Given the description of an element on the screen output the (x, y) to click on. 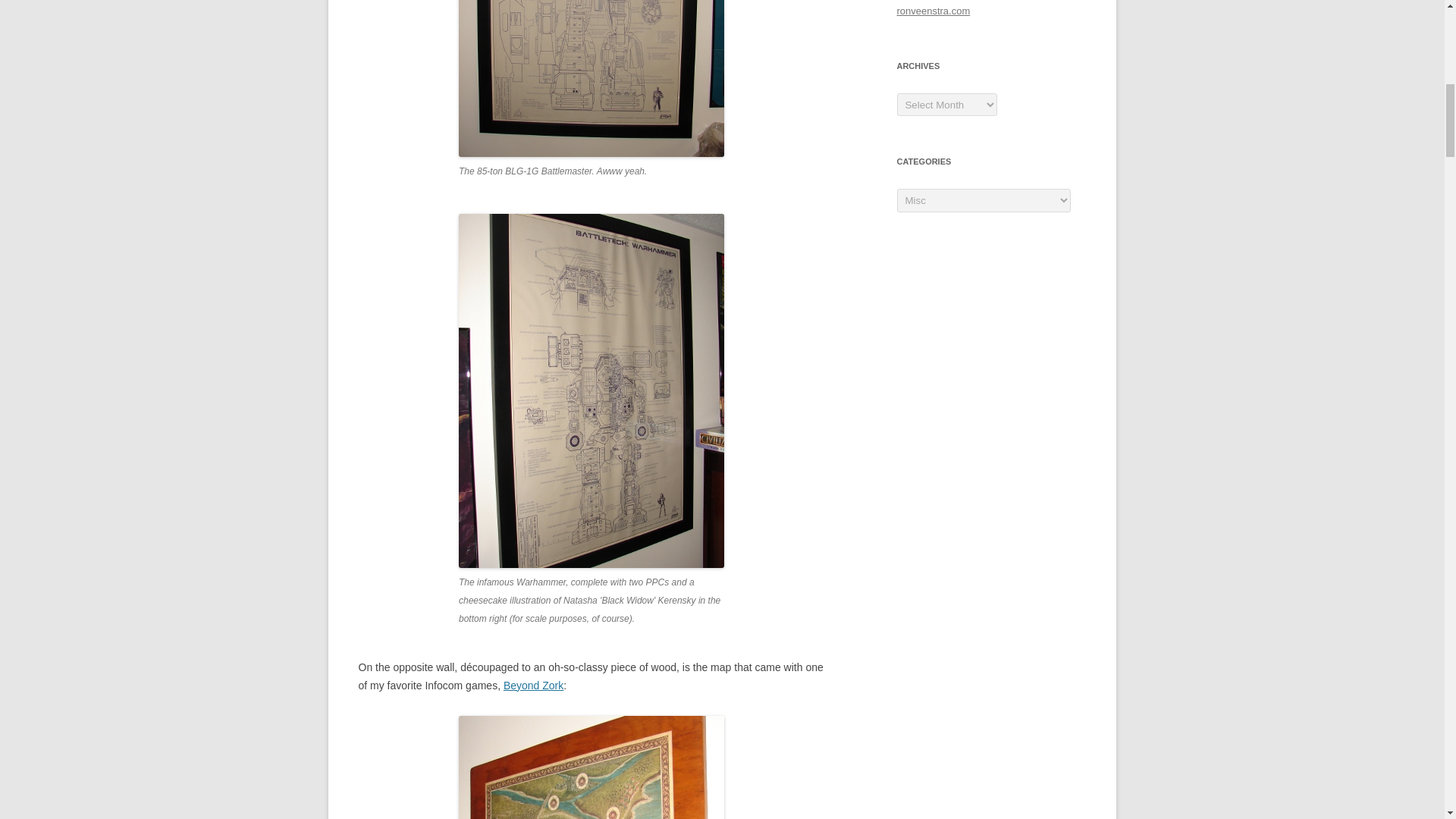
quendor-map (590, 767)
Beyond Zork (533, 685)
battlemaster (590, 78)
